Given the description of an element on the screen output the (x, y) to click on. 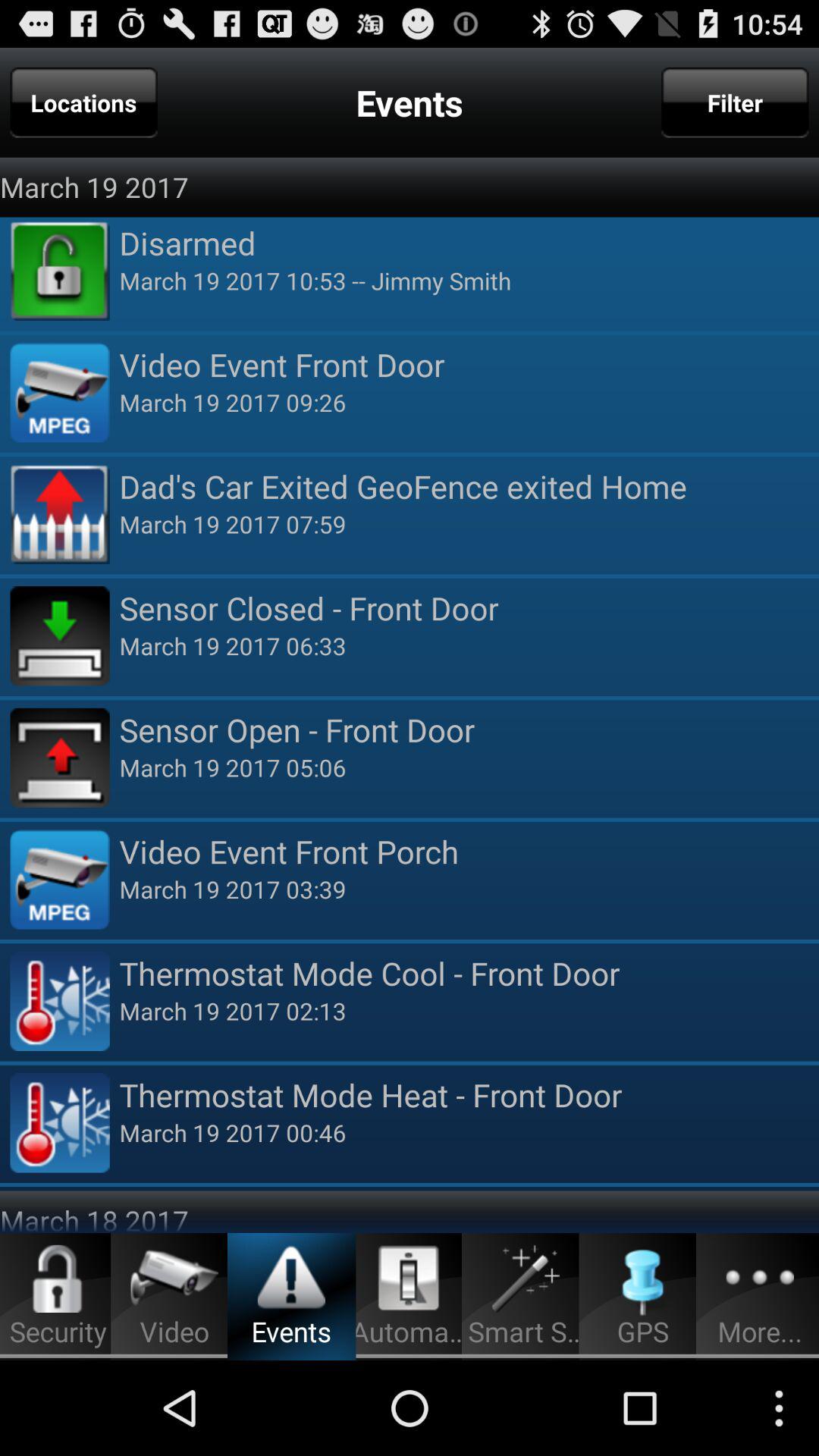
select the item above march 19 2017 (469, 242)
